Given the description of an element on the screen output the (x, y) to click on. 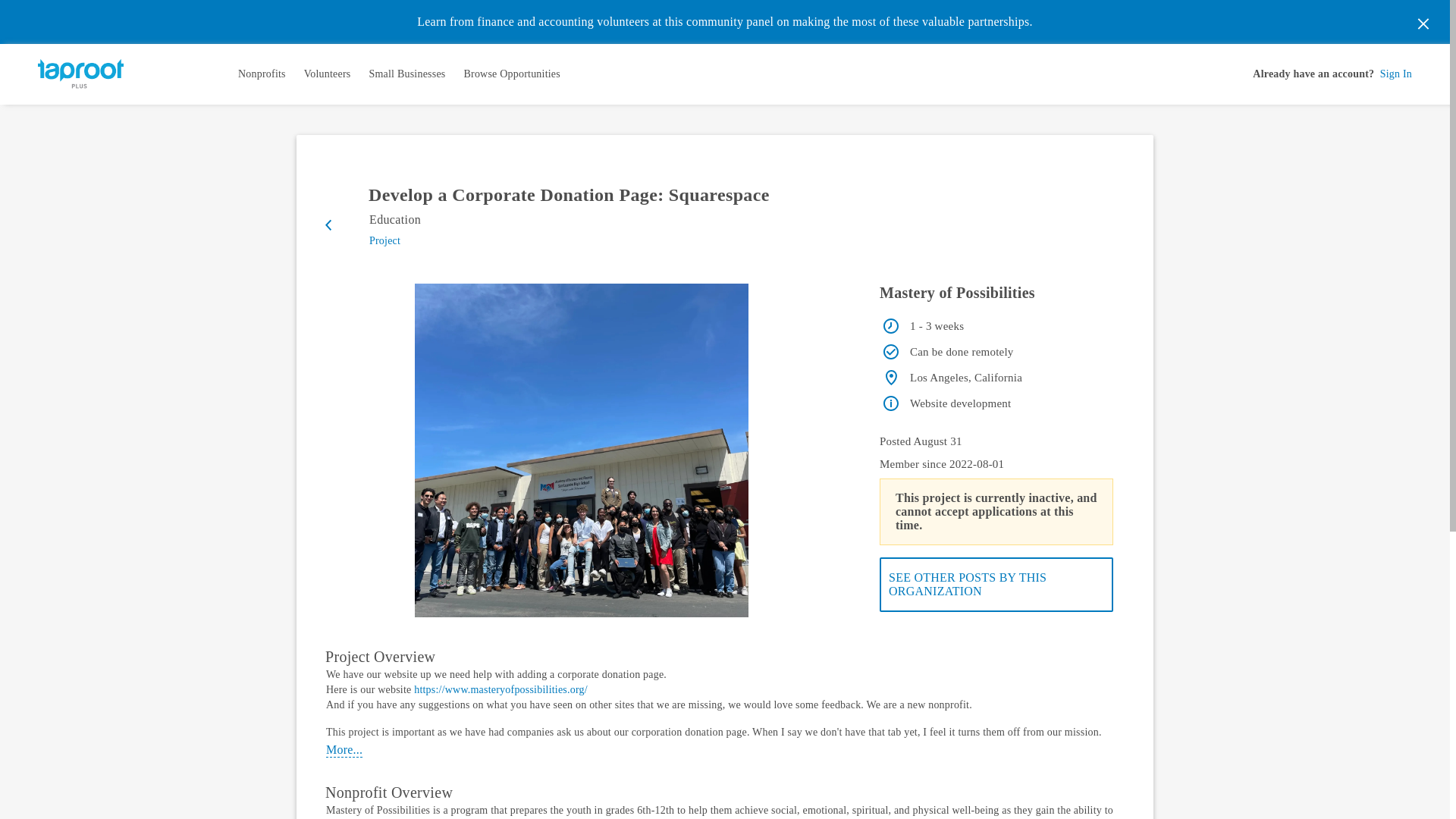
Sign In (1396, 73)
Volunteers (327, 73)
More... (344, 749)
Small Businesses (406, 73)
SEE OTHER POSTS BY THIS ORGANIZATION (996, 584)
Browse Opportunities (511, 73)
Nonprofits (261, 73)
